Given the description of an element on the screen output the (x, y) to click on. 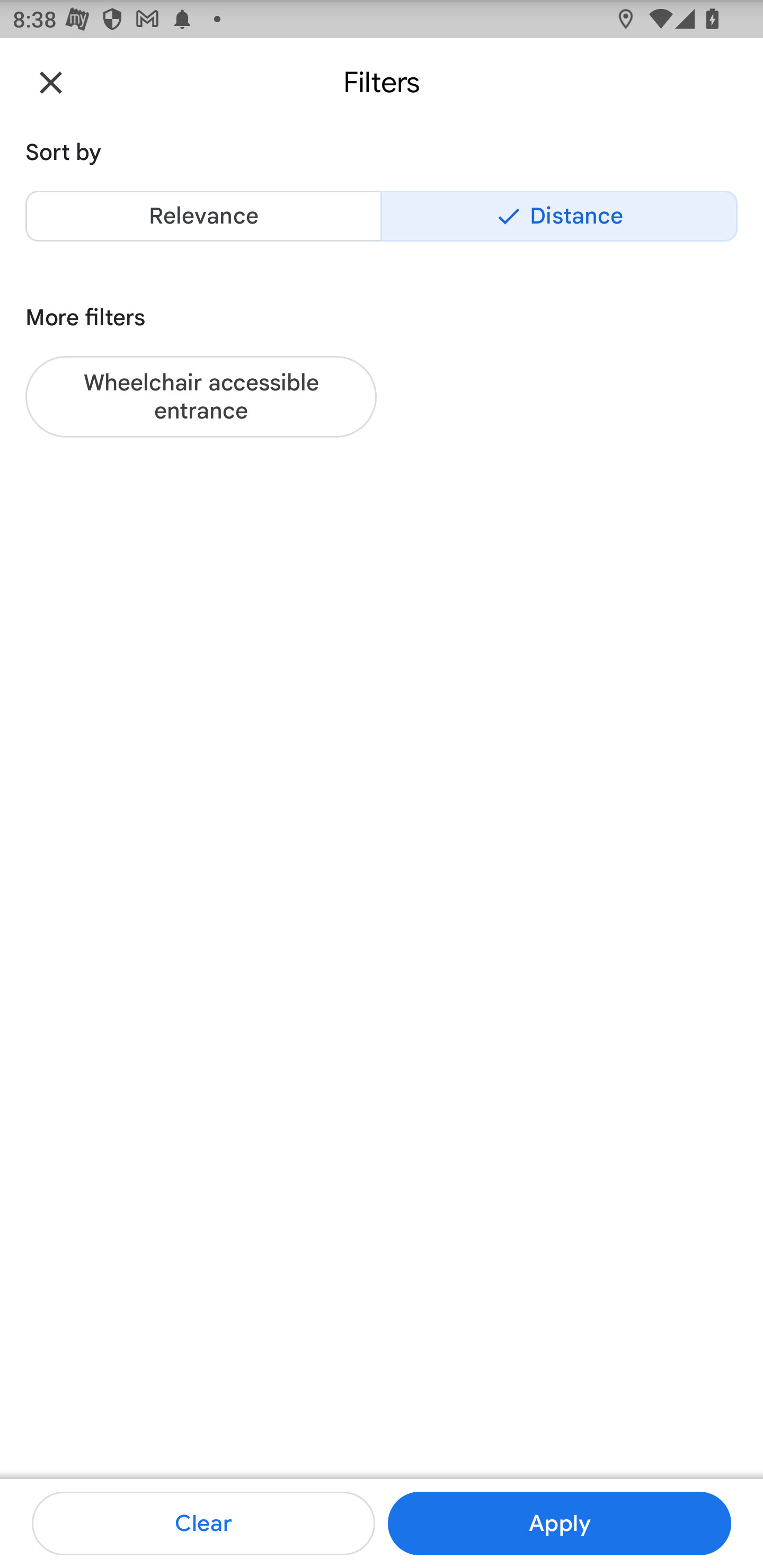
Close menu (50, 81)
Relevance (203, 216)
Distance (558, 216)
Wheelchair accessible entrance (200, 396)
Clear Clear Clear (203, 1522)
Apply Apply Apply (558, 1522)
